Given the description of an element on the screen output the (x, y) to click on. 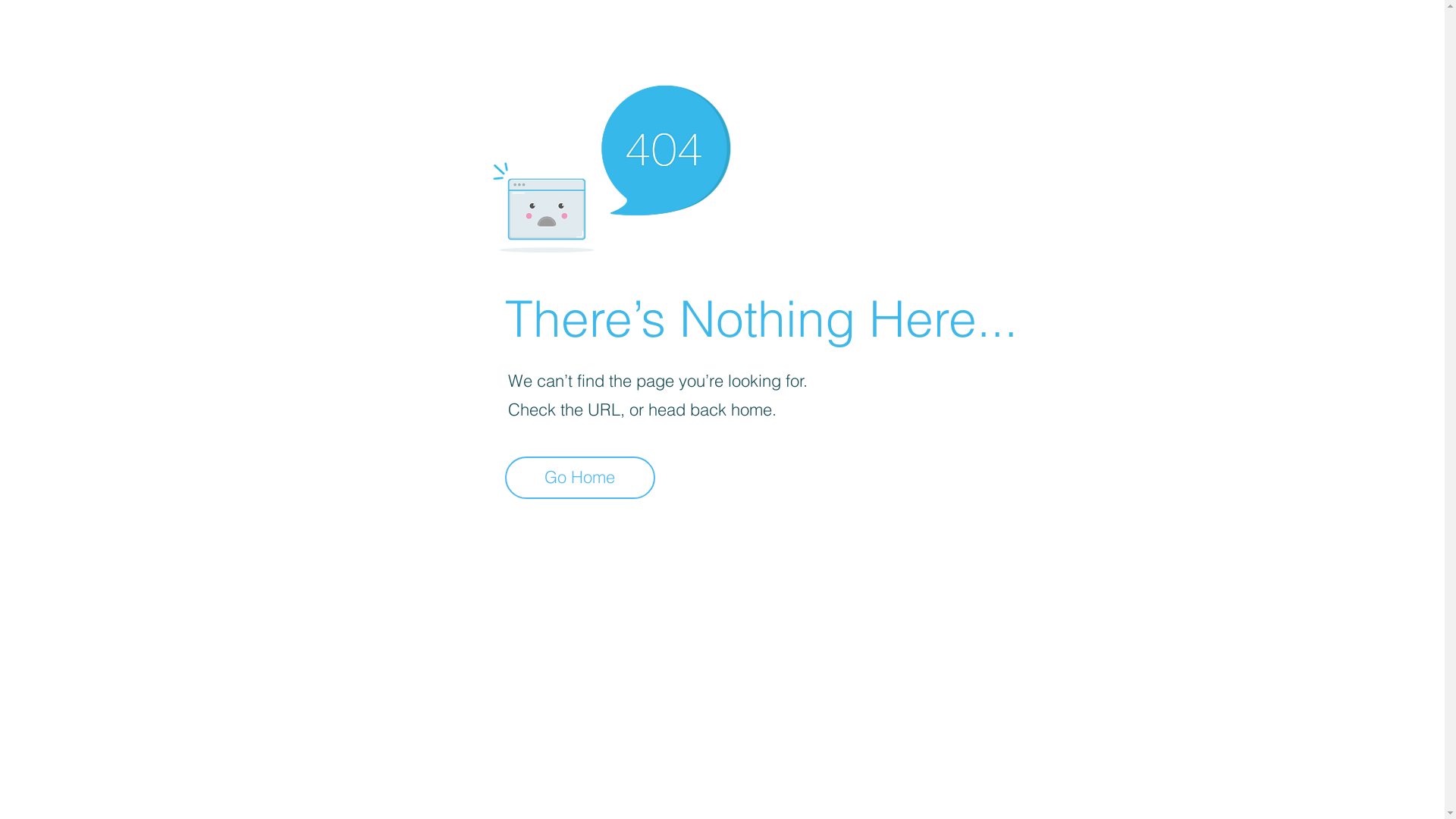
404-icon_2.png Element type: hover (610, 164)
Go Home Element type: text (580, 477)
